Given the description of an element on the screen output the (x, y) to click on. 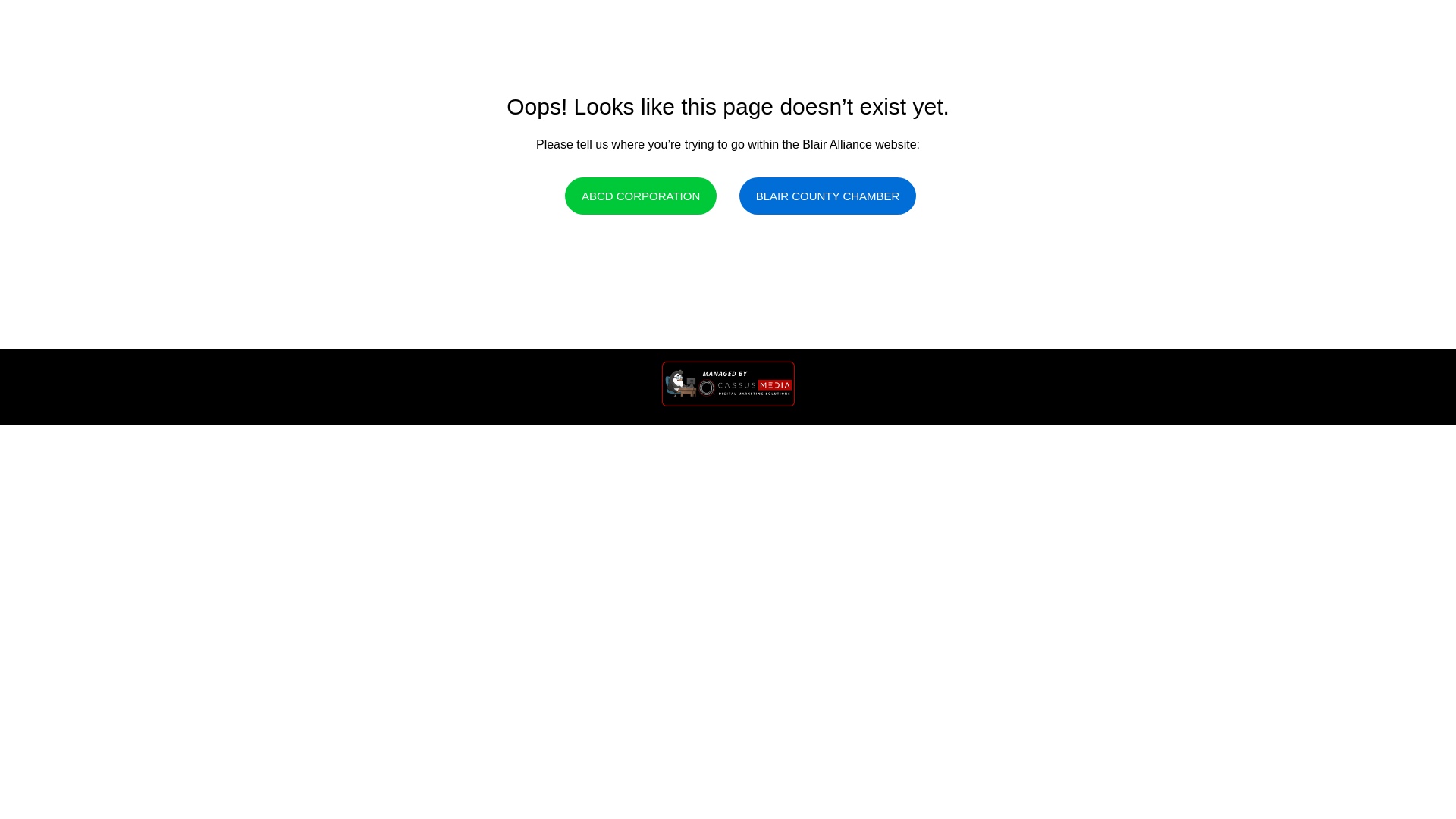
ABCD CORPORATION (640, 196)
BLAIR COUNTY CHAMBER (828, 196)
